Given the description of an element on the screen output the (x, y) to click on. 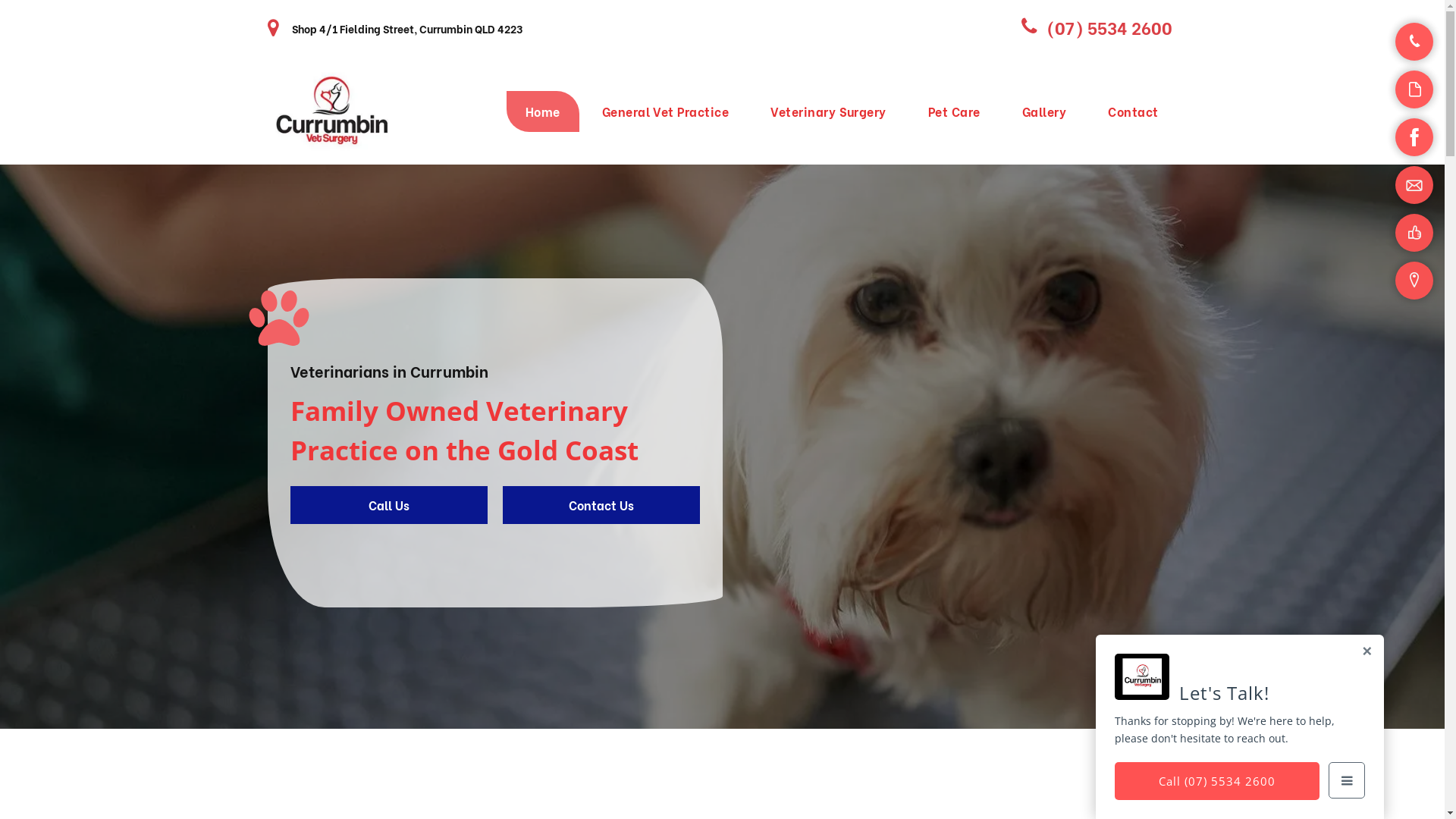
(07) 5534 2600 Element type: text (1089, 26)
Shop 4/1 Fielding Street, Currumbin QLD 4223 Element type: text (406, 27)
Home Element type: text (542, 111)
General Vet Practice Element type: text (665, 111)
Gallery Element type: text (1044, 111)
Call (07) 5534 2600 Element type: text (1216, 781)
Veterinary Surgery Element type: text (828, 111)
Pet Care Element type: text (954, 111)
Currumbin Vet Surgery Element type: hover (330, 110)
Contact Us Element type: text (600, 505)
Contact Element type: text (1132, 111)
Call Us Element type: text (387, 505)
